Given the description of an element on the screen output the (x, y) to click on. 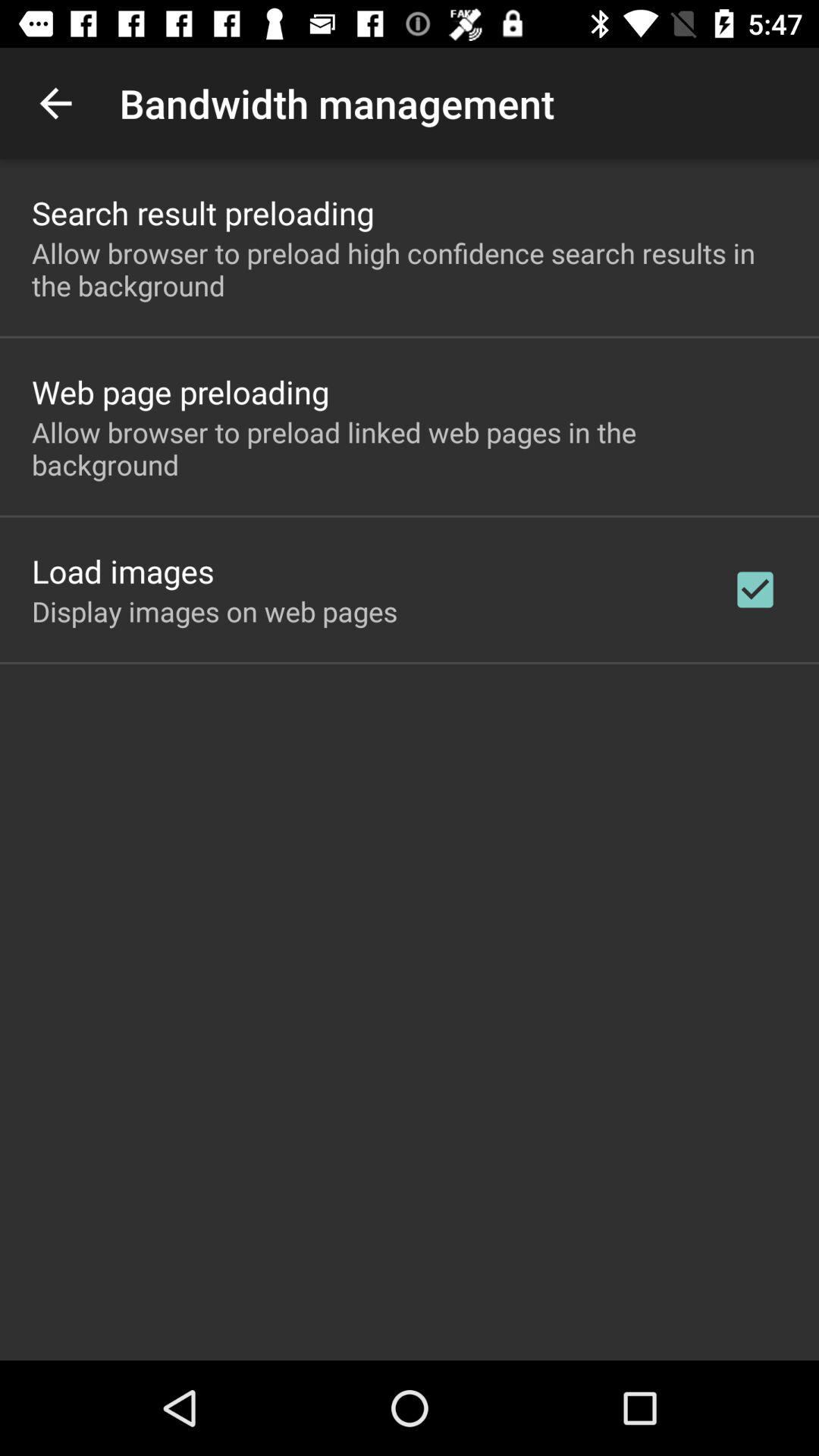
press the web page preloading icon (180, 391)
